Given the description of an element on the screen output the (x, y) to click on. 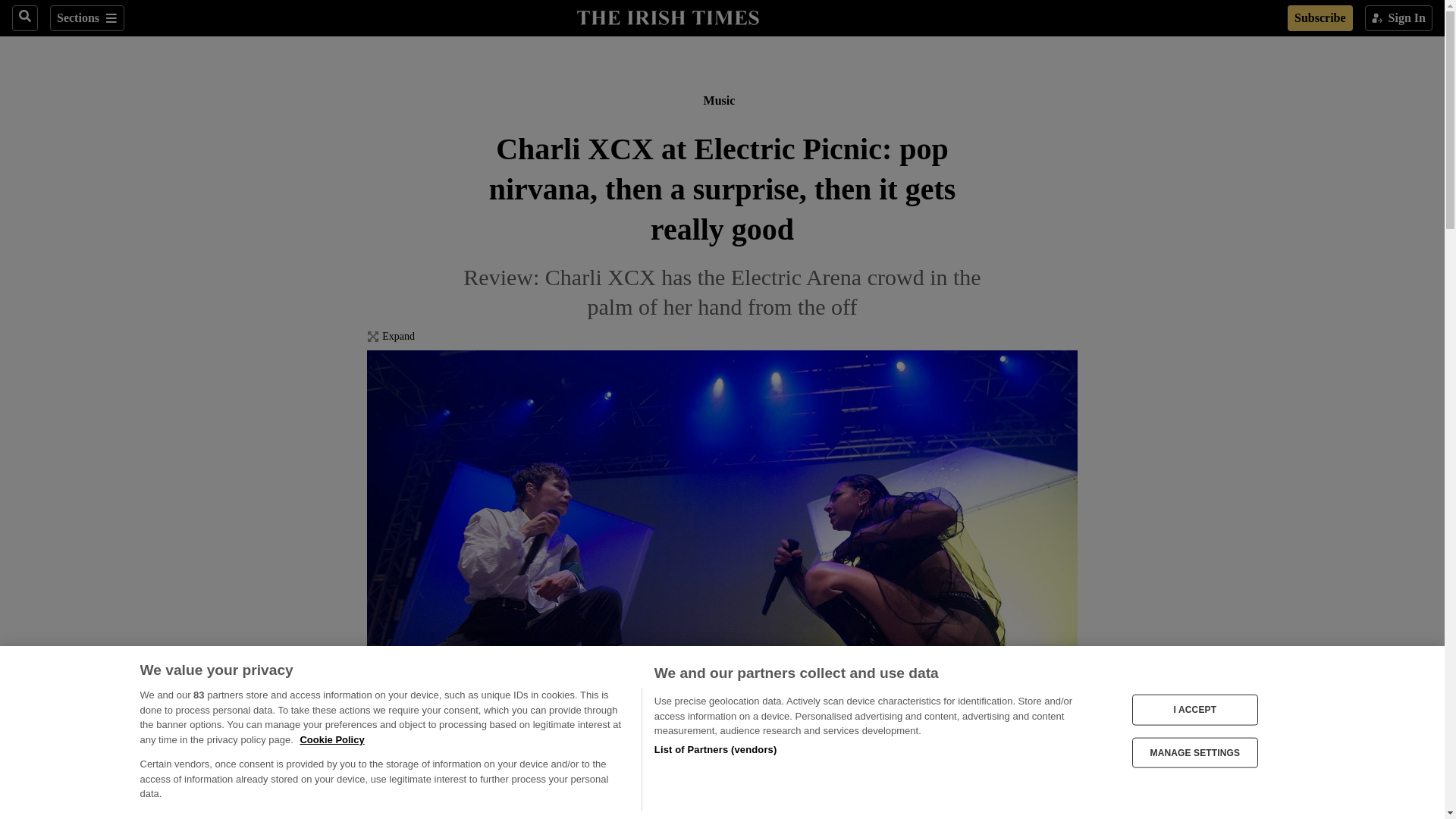
Sections (86, 17)
Sign In (1398, 17)
The Irish Times (667, 16)
Subscribe (1319, 17)
